Given the description of an element on the screen output the (x, y) to click on. 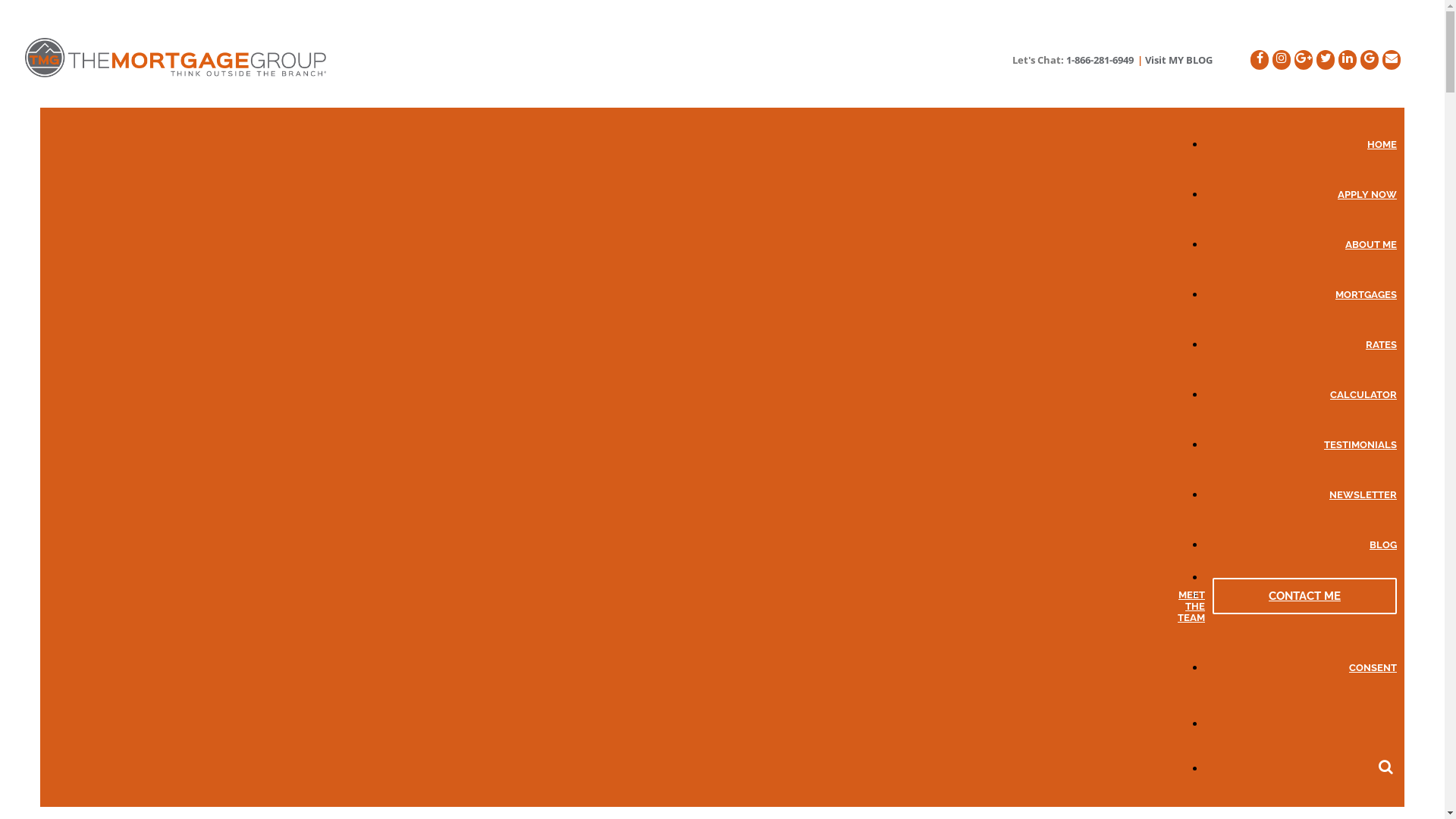
ABOUT ME Element type: text (1300, 241)
CONSENT Element type: text (1300, 665)
Leave a Google Review Element type: hover (1369, 59)
TESTIMONIALS Element type: text (1300, 442)
HOME Element type: text (1300, 141)
Visit MY BLOG Element type: text (1178, 59)
RATES Element type: text (1300, 342)
  Element type: text (1300, 763)
BLOG Element type: text (1300, 542)
1-866-281-6949 Element type: text (1099, 59)
NEWSLETTER Element type: text (1300, 492)
CONTACT ME Element type: text (1304, 595)
APPLY NOW Element type: text (1300, 191)
MORTGAGES Element type: text (1300, 291)
CALCULATOR Element type: text (1300, 392)
